Given the description of an element on the screen output the (x, y) to click on. 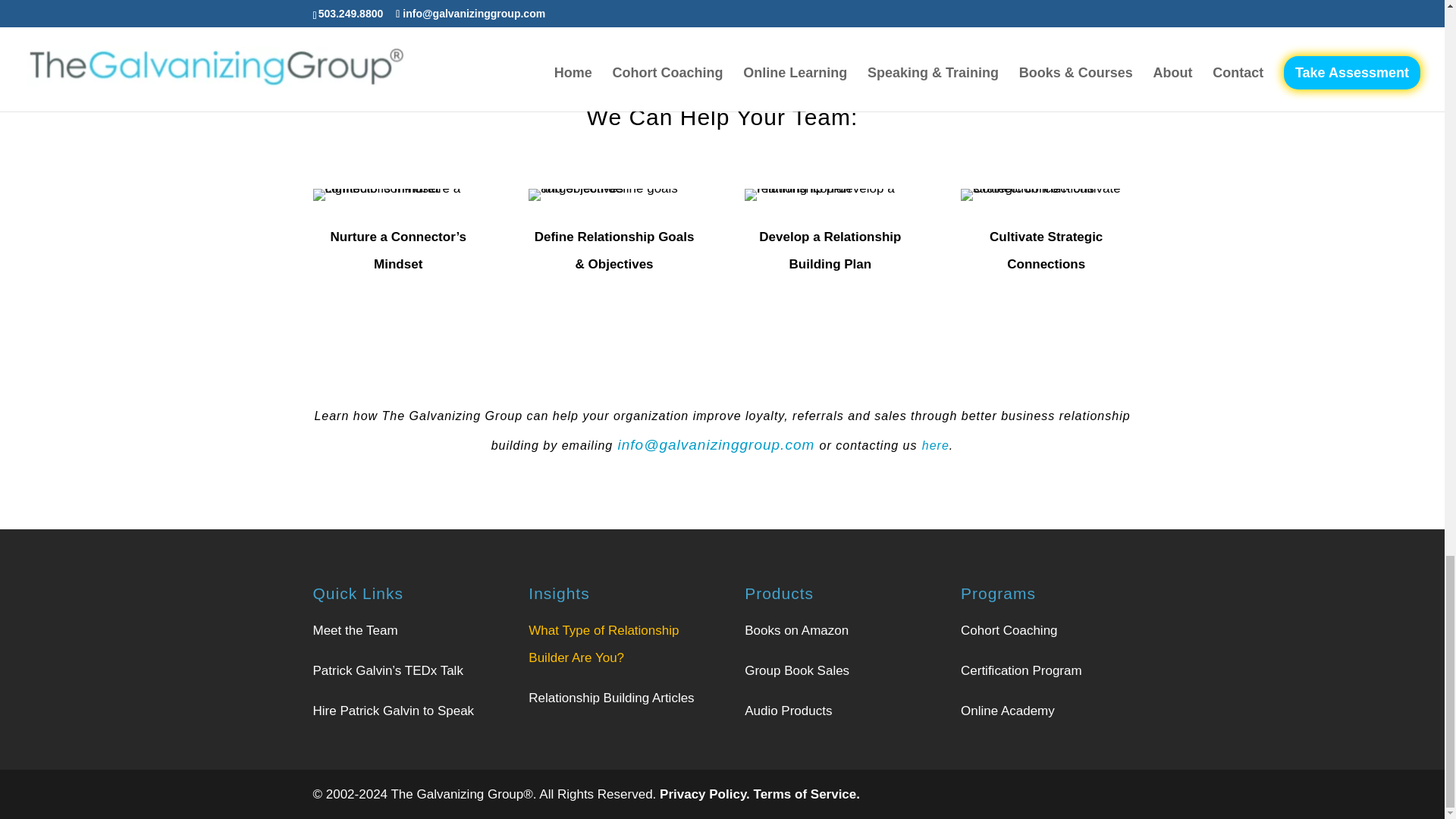
Certification Program (1020, 670)
Cohort Coaching (1009, 630)
Relationship Building Articles (611, 698)
Terms of Service (807, 794)
Hire Patrick Galvin to Speak (393, 710)
Books on Amazon (796, 630)
Privacy Policy (705, 794)
Online Academy (1007, 710)
Terms of Service. (807, 794)
What Type of Relationship Builder Are You? (603, 644)
